Given the description of an element on the screen output the (x, y) to click on. 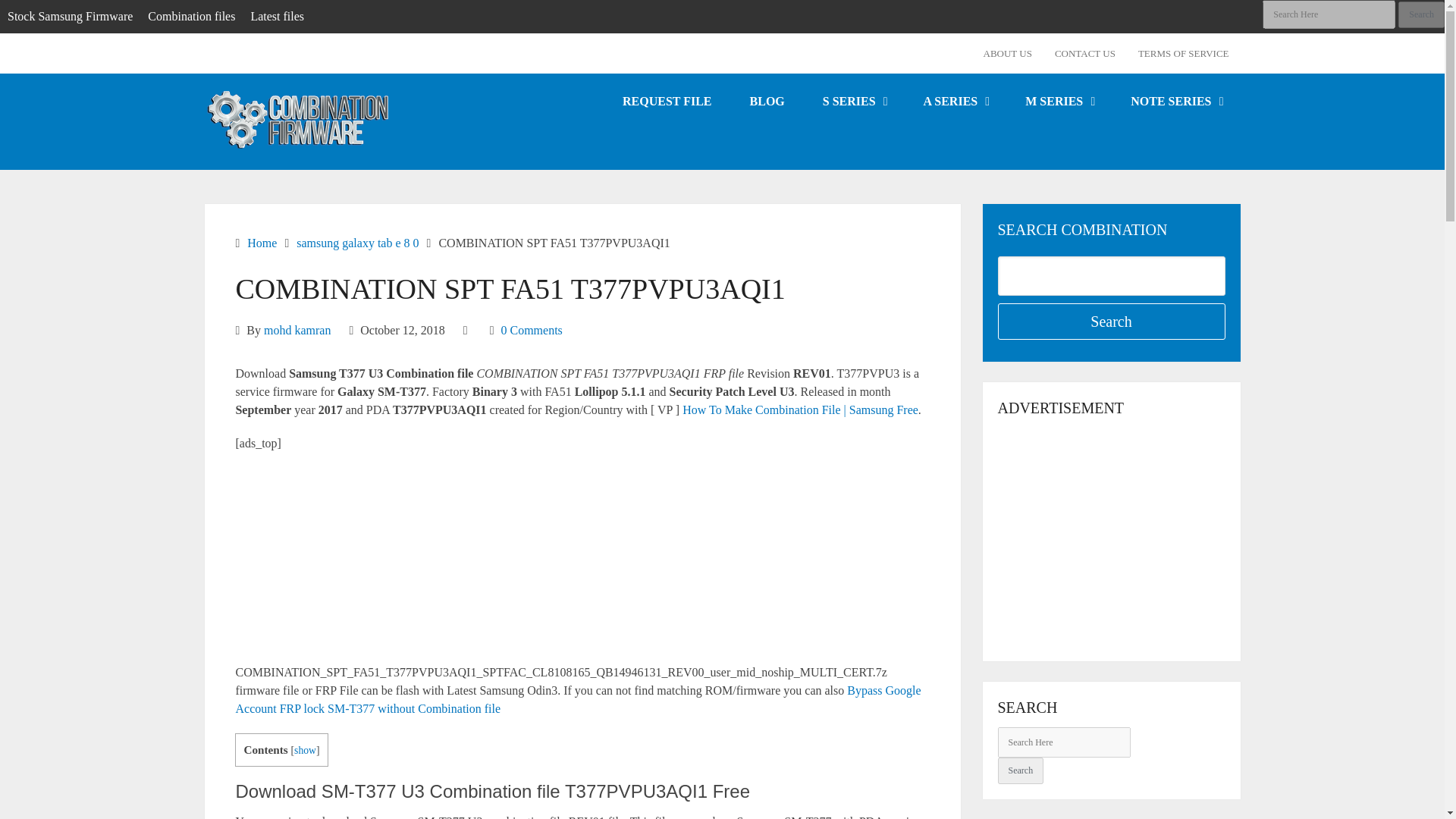
ABOUT US (1007, 53)
REQUEST FILE (667, 100)
Search (1020, 769)
A SERIES (955, 100)
S SERIES (853, 100)
BLOG (766, 100)
Posts by mohd kamran (296, 329)
TERMS OF SERVICE (1183, 53)
Latest files (277, 16)
CONTACT US (1084, 53)
